Given the description of an element on the screen output the (x, y) to click on. 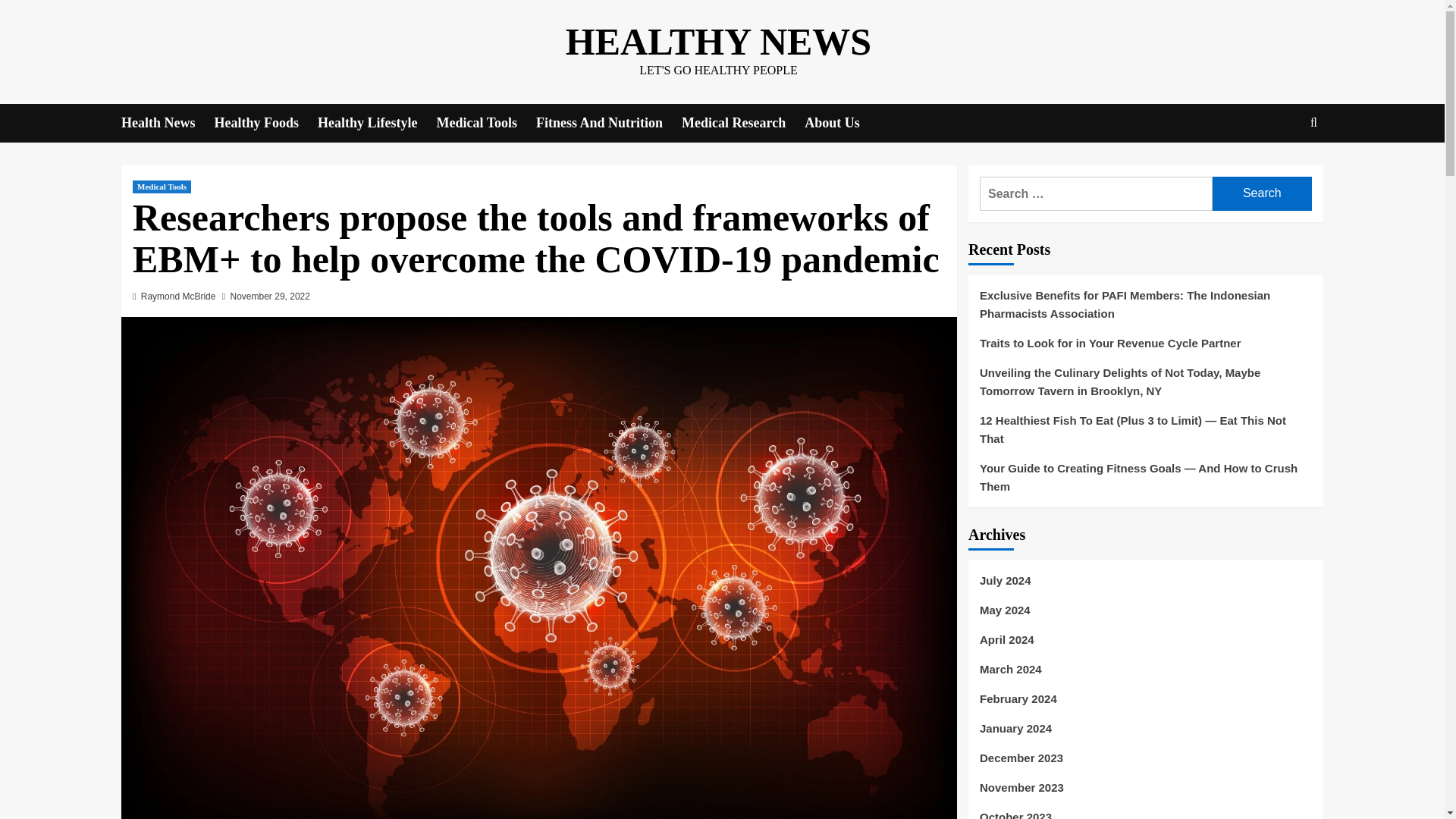
Search (1278, 169)
November 29, 2022 (270, 296)
About Us (842, 123)
Healthy Lifestyle (376, 123)
Medical Research (743, 123)
Fitness And Nutrition (608, 123)
Health News (167, 123)
Medical Tools (486, 123)
HEALTHY NEWS (718, 41)
Healthy Foods (265, 123)
Search (1261, 193)
Raymond McBride (178, 296)
Search (1261, 193)
Medical Tools (161, 186)
